Given the description of an element on the screen output the (x, y) to click on. 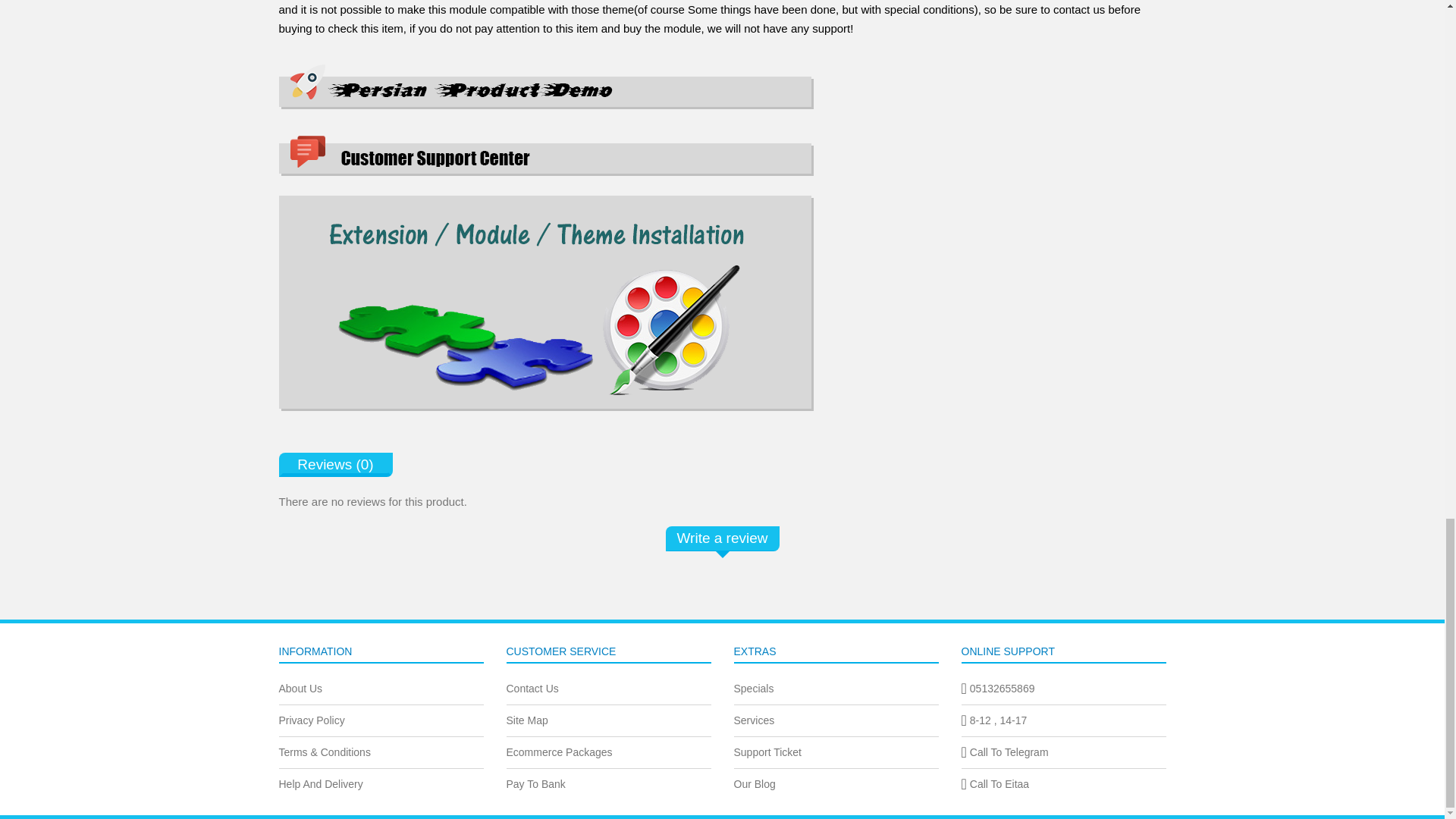
Help To Install (546, 297)
Persian Demo (546, 86)
Customer Support Center (546, 155)
